Given the description of an element on the screen output the (x, y) to click on. 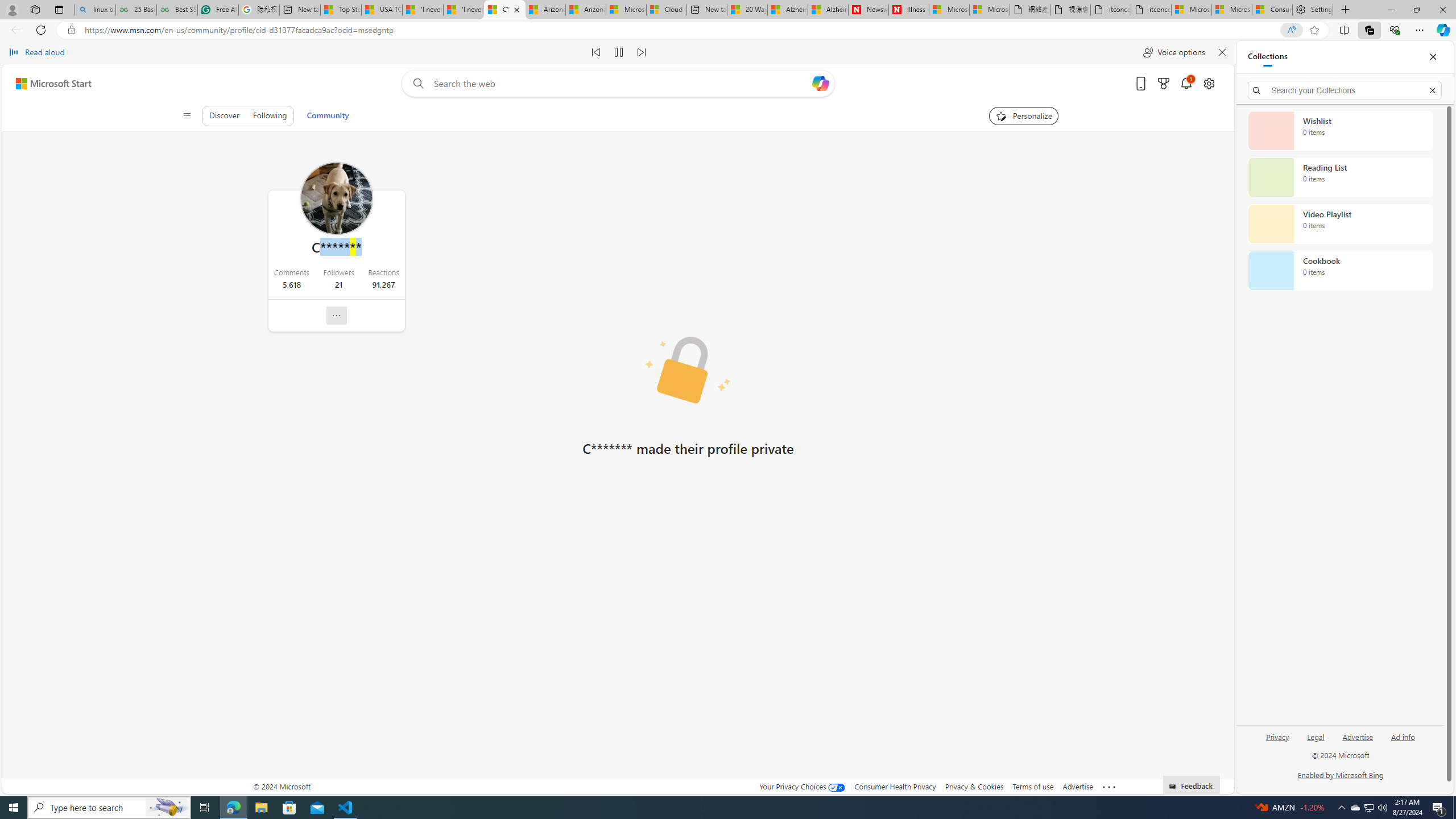
Video Playlist collection, 0 items (1339, 223)
Wishlist collection, 0 items (1339, 130)
Reading List collection, 0 items (1339, 177)
Cloud Computing Services | Microsoft Azure (666, 9)
Personalize your feed" (1023, 116)
Free AI Writing Assistance for Students | Grammarly (217, 9)
